Given the description of an element on the screen output the (x, y) to click on. 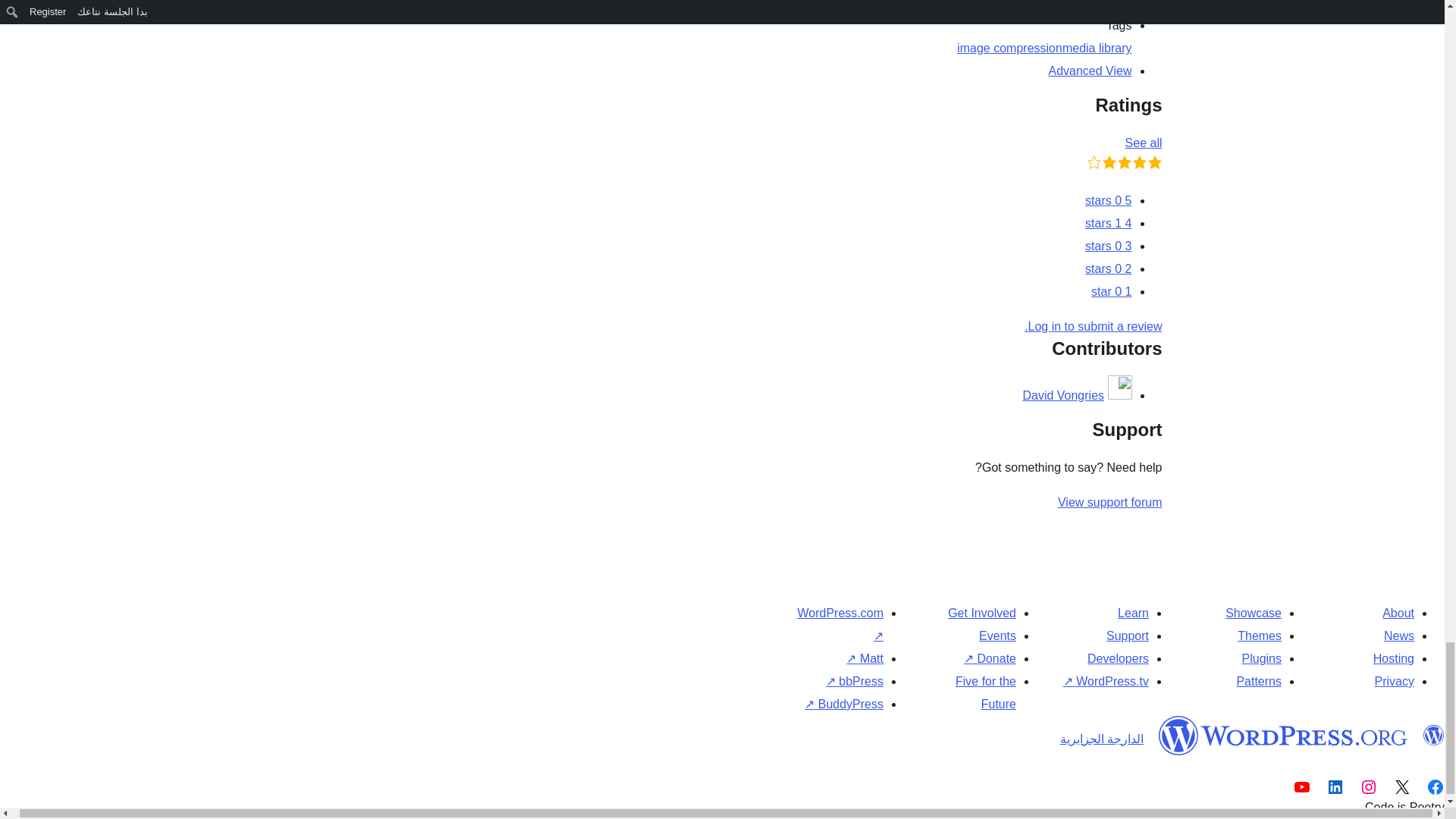
Log in to WordPress.org (1093, 326)
WordPress.org (1433, 734)
WordPress.org (1282, 734)
